Given the description of an element on the screen output the (x, y) to click on. 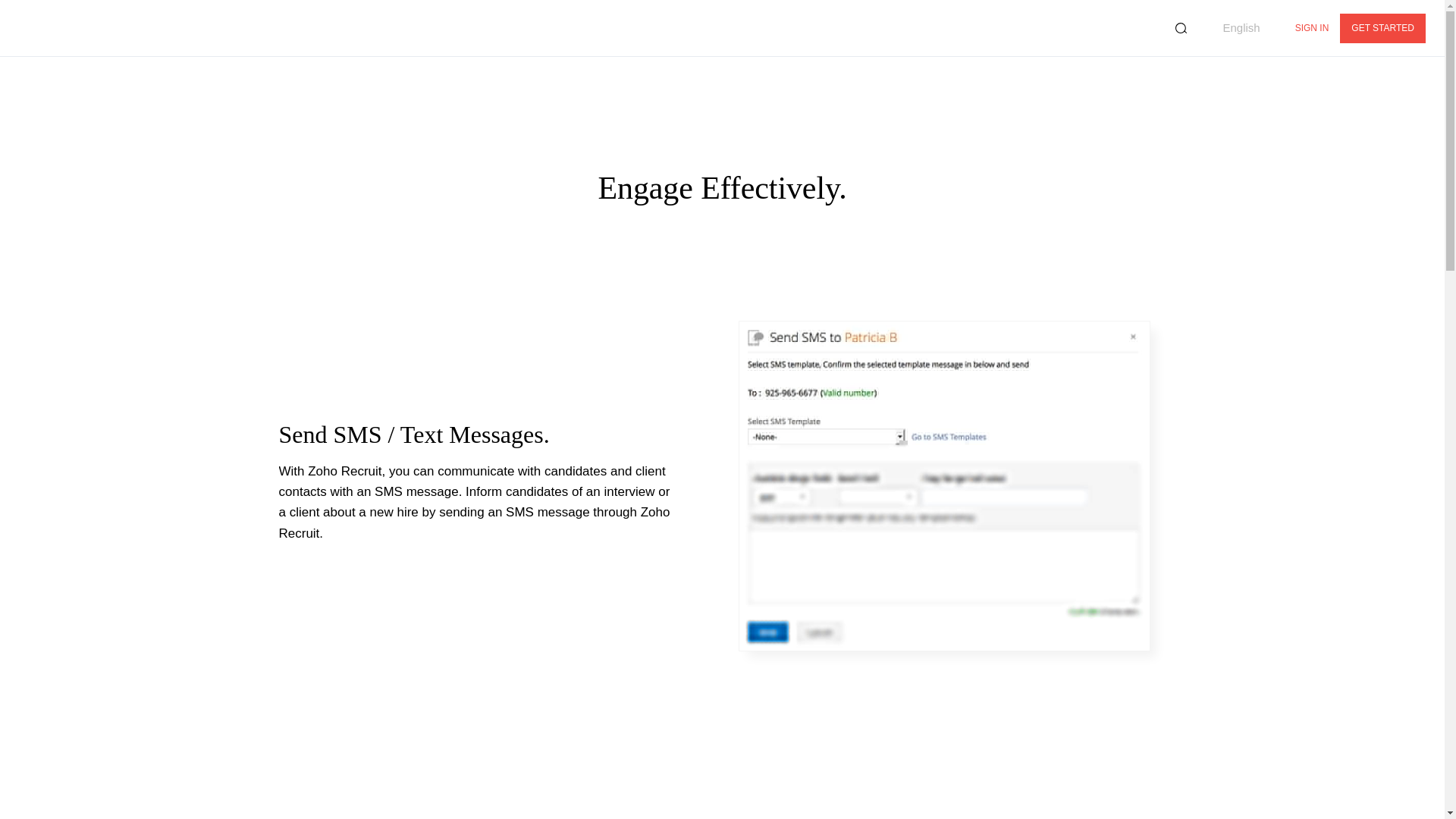
Zoho.com (60, 27)
English (1232, 28)
SIGN IN (1312, 28)
GET STARTED (1382, 28)
